Given the description of an element on the screen output the (x, y) to click on. 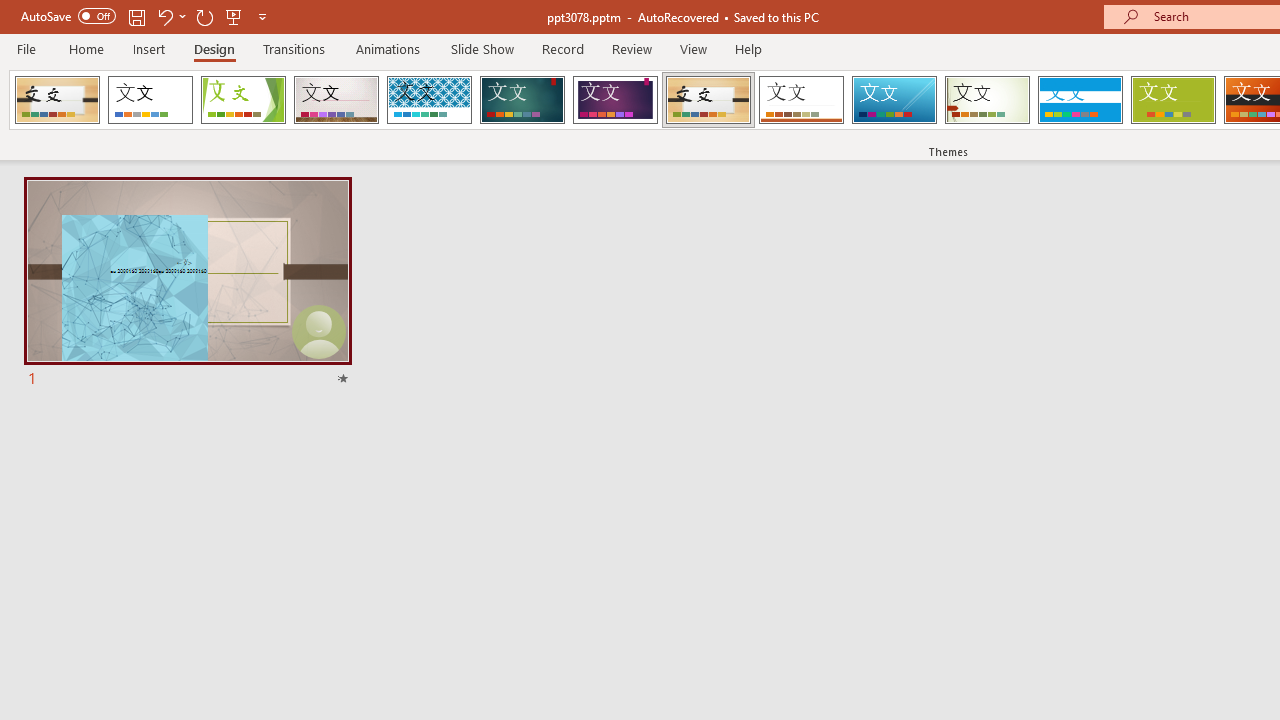
Wisp (987, 100)
